Given the description of an element on the screen output the (x, y) to click on. 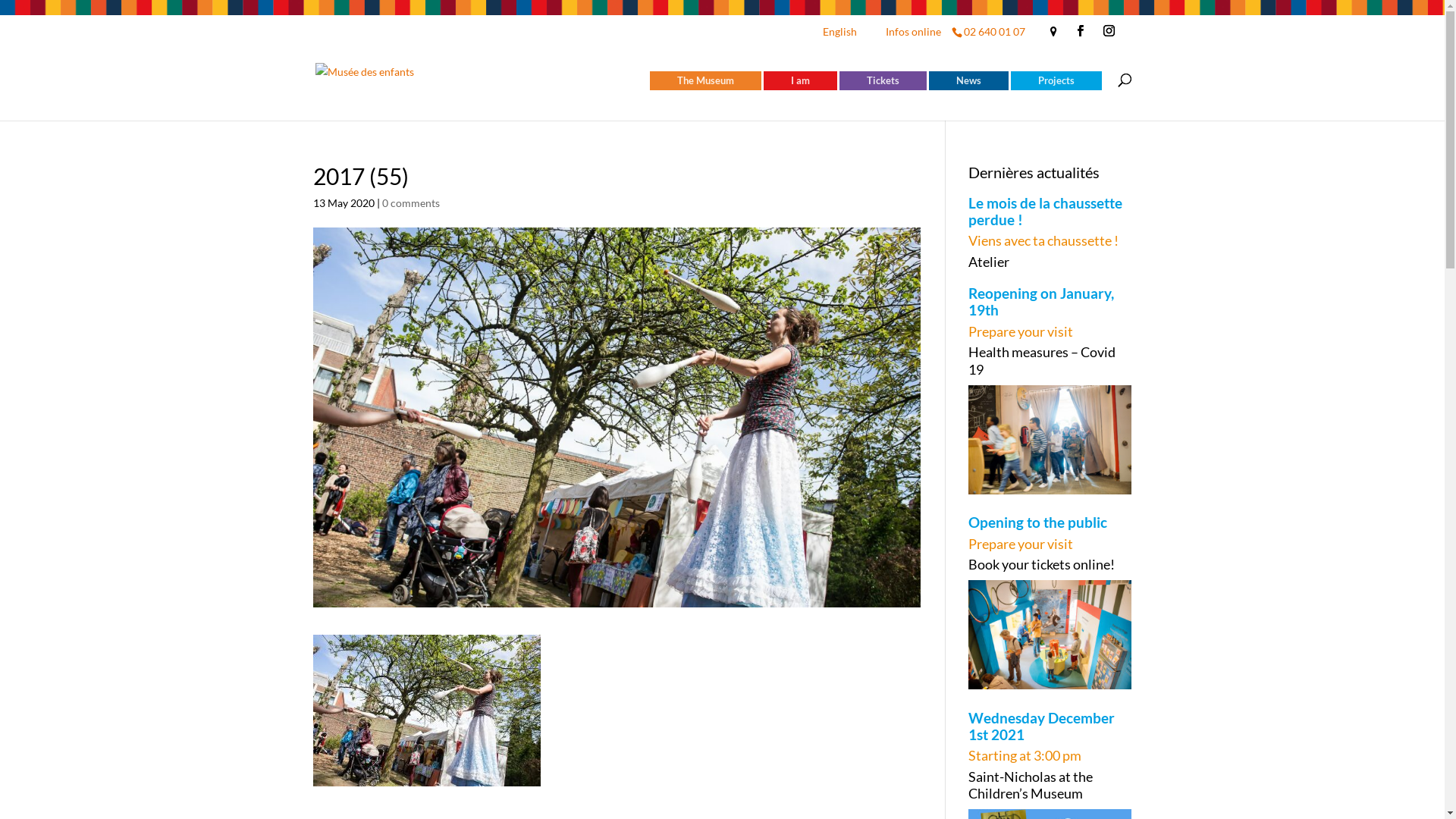
Book your tickets online! Element type: text (1050, 563)
0 comments Element type: text (410, 201)
Infos online Element type: text (913, 35)
Atelier Element type: text (1050, 261)
News Element type: text (967, 80)
I am Element type: text (799, 80)
English Element type: text (845, 35)
02 640 01 07 Element type: text (992, 31)
Tickets Element type: text (881, 80)
The Museum Element type: text (704, 80)
Projects Element type: text (1055, 80)
